Given the description of an element on the screen output the (x, y) to click on. 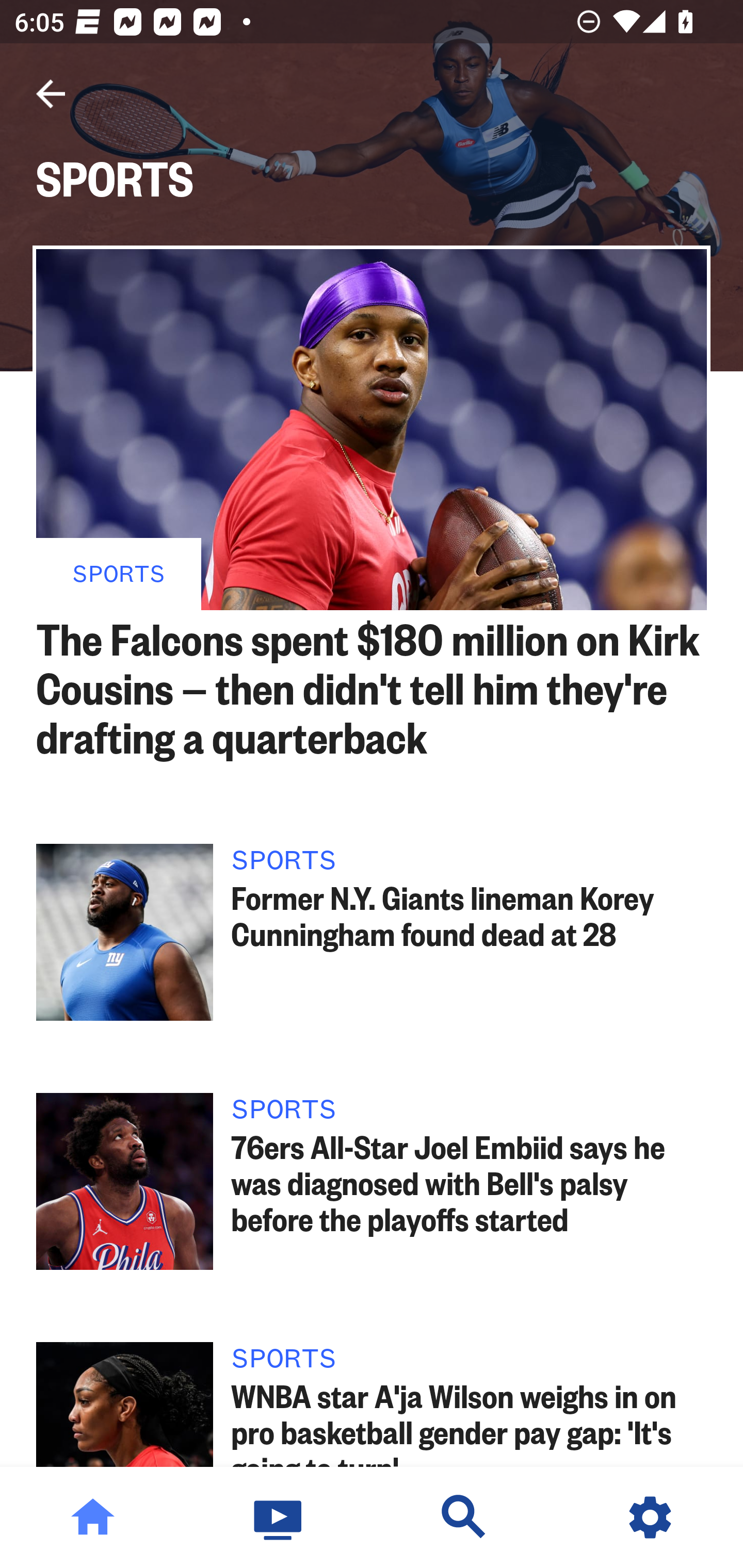
Navigate up (50, 93)
Watch (278, 1517)
Discover (464, 1517)
Settings (650, 1517)
